Given the description of an element on the screen output the (x, y) to click on. 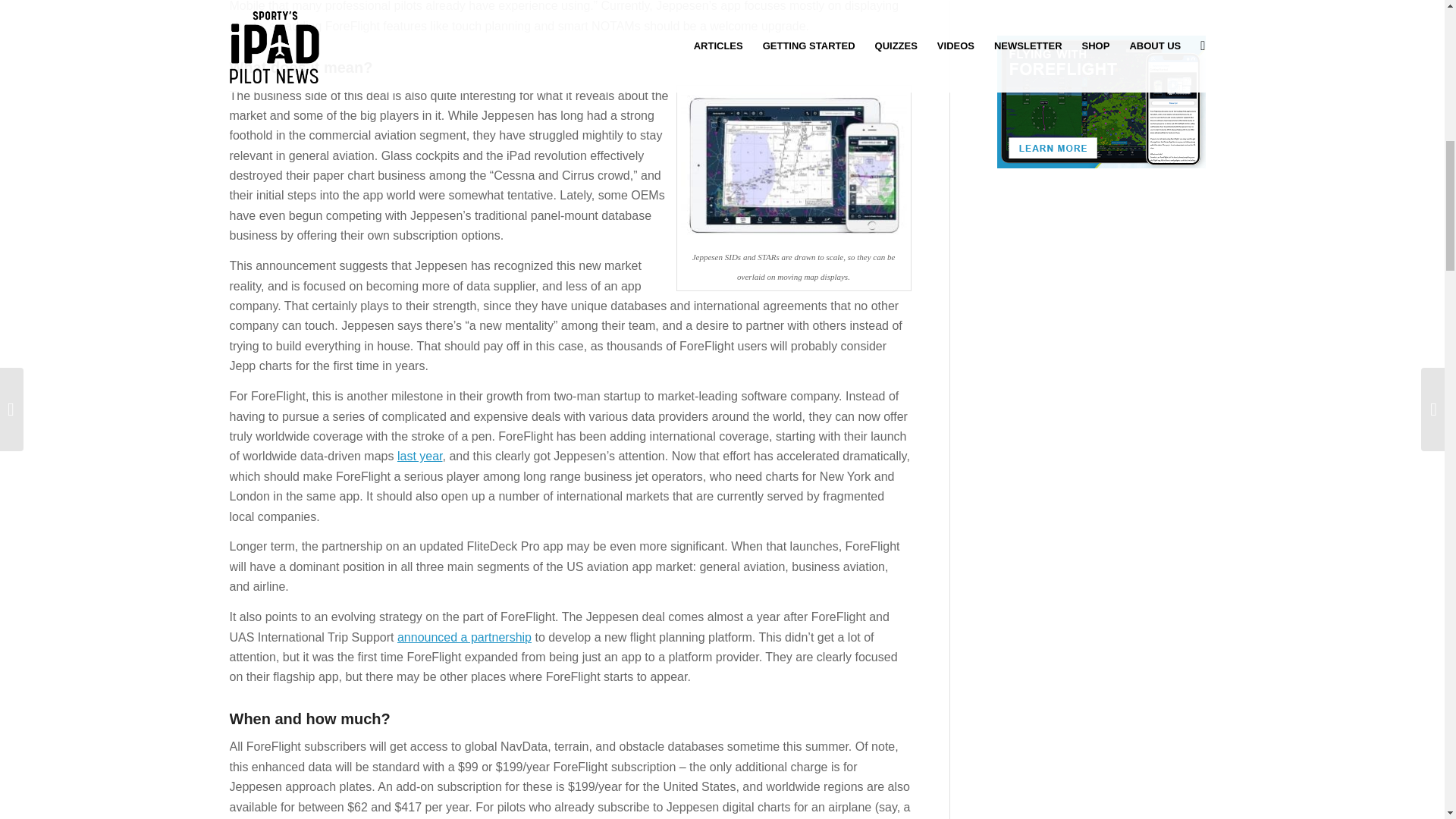
announced a partnership (464, 636)
last year (419, 455)
